Given the description of an element on the screen output the (x, y) to click on. 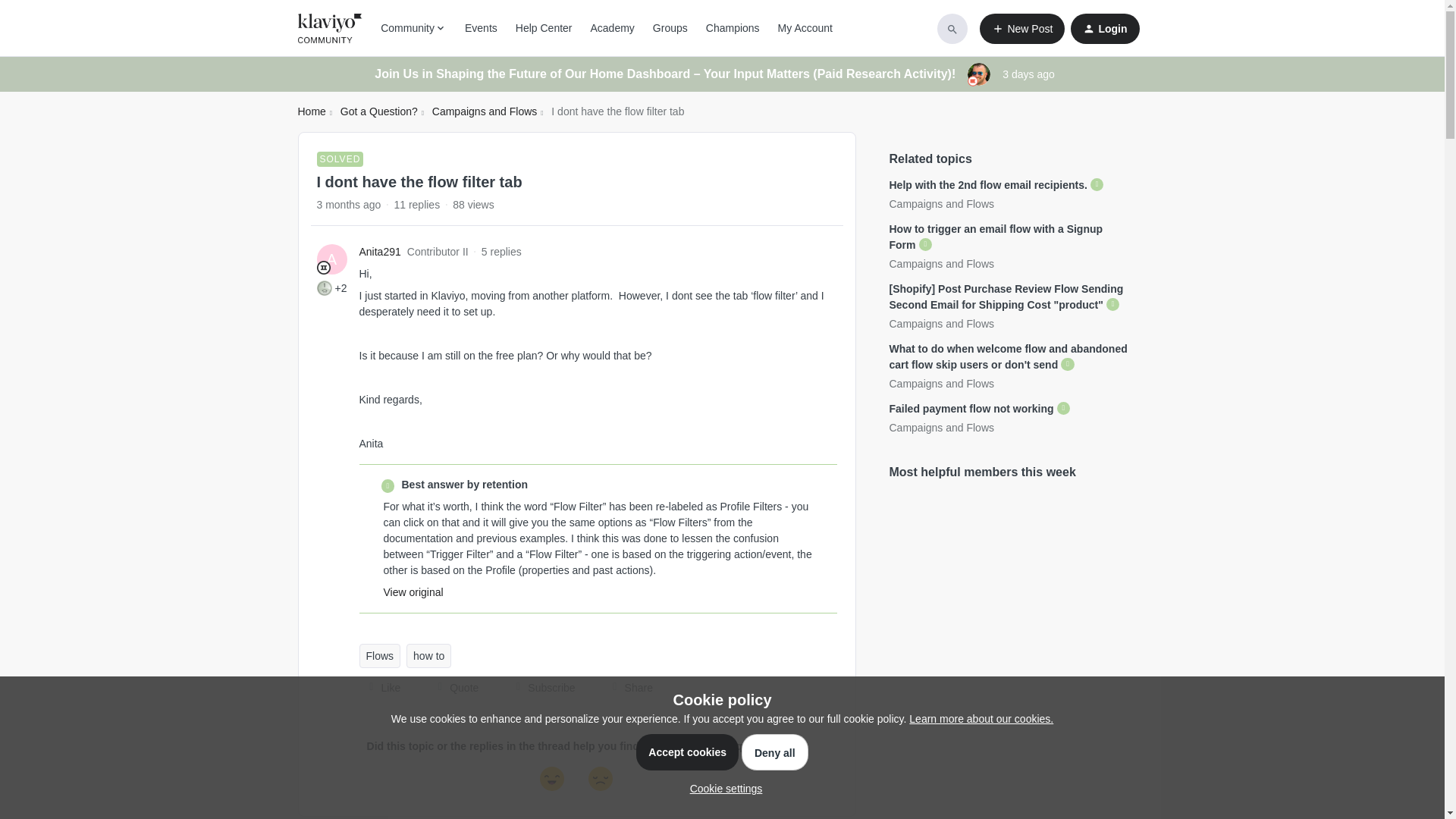
Home (310, 111)
My Account (804, 28)
Login (1104, 28)
Academy (611, 28)
Champions (733, 28)
Groups (669, 28)
Events (480, 28)
Community (413, 28)
Help Center (543, 28)
New Post (1021, 28)
